Given the description of an element on the screen output the (x, y) to click on. 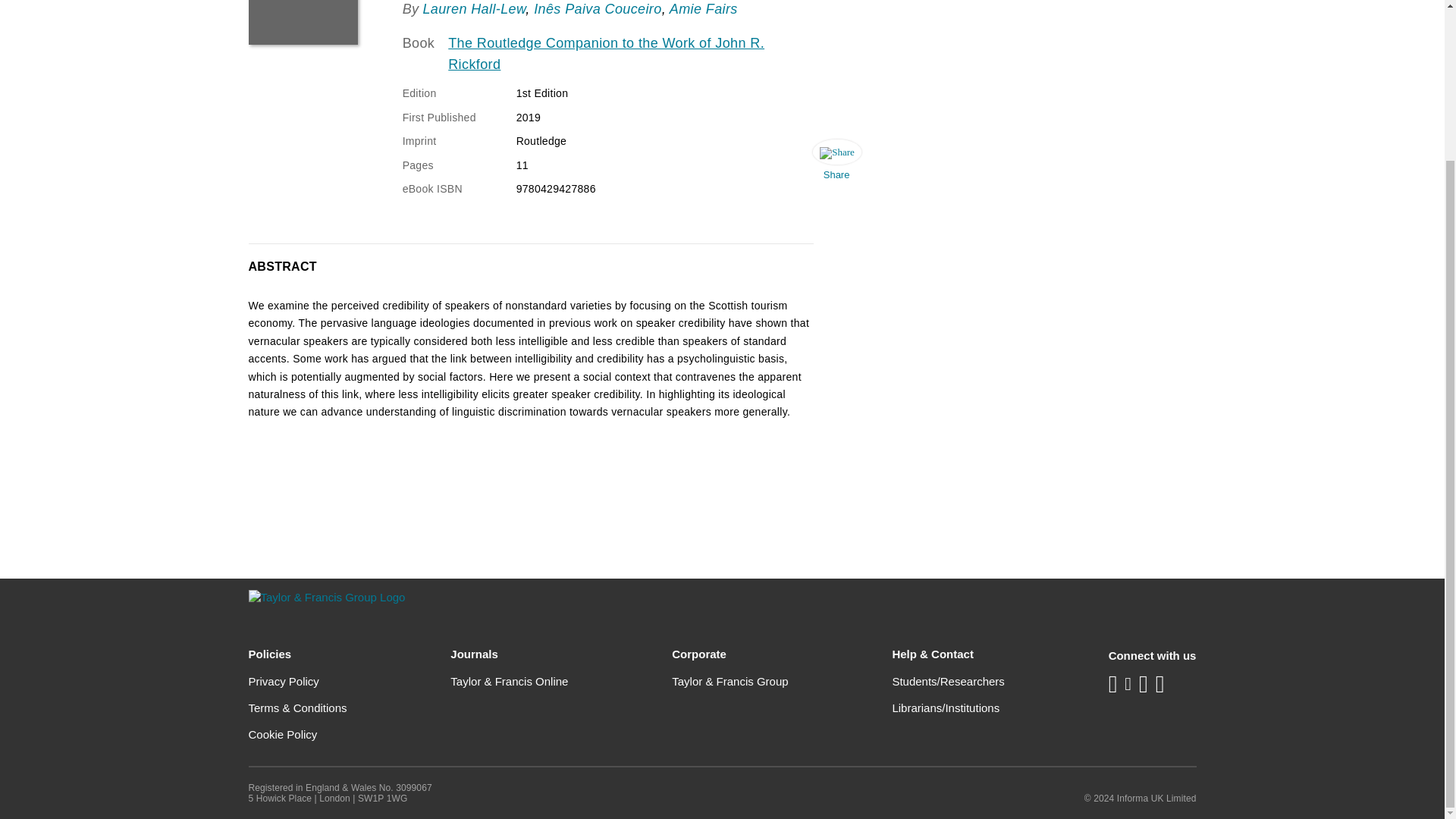
Cookie Policy (282, 734)
The Routledge Companion to the Work of John R. Rickford (628, 54)
Amie Fairs (703, 8)
Share (836, 163)
Privacy Policy (283, 681)
Lauren Hall-Lew (473, 8)
